Given the description of an element on the screen output the (x, y) to click on. 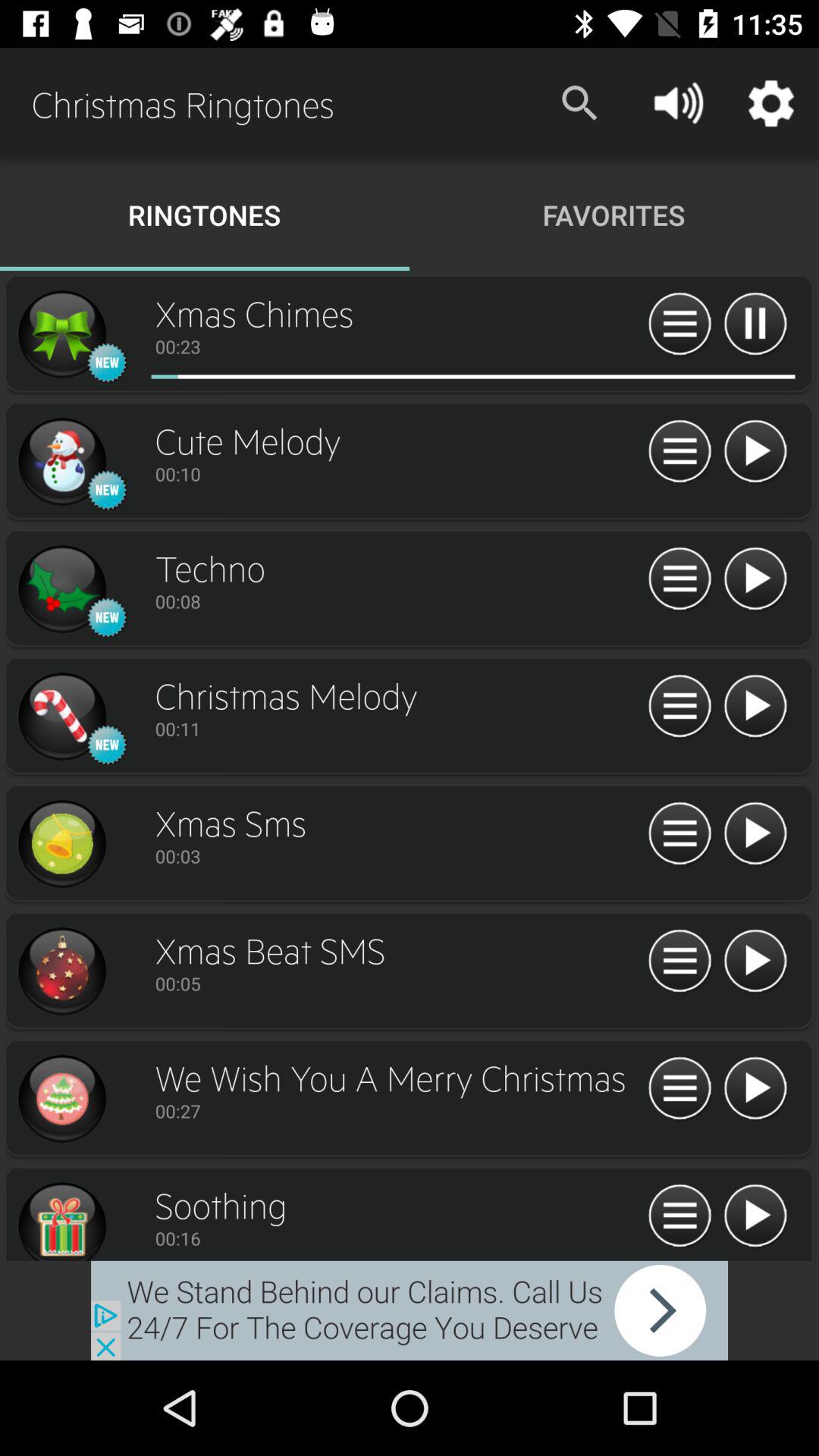
play cute melody (755, 451)
